Given the description of an element on the screen output the (x, y) to click on. 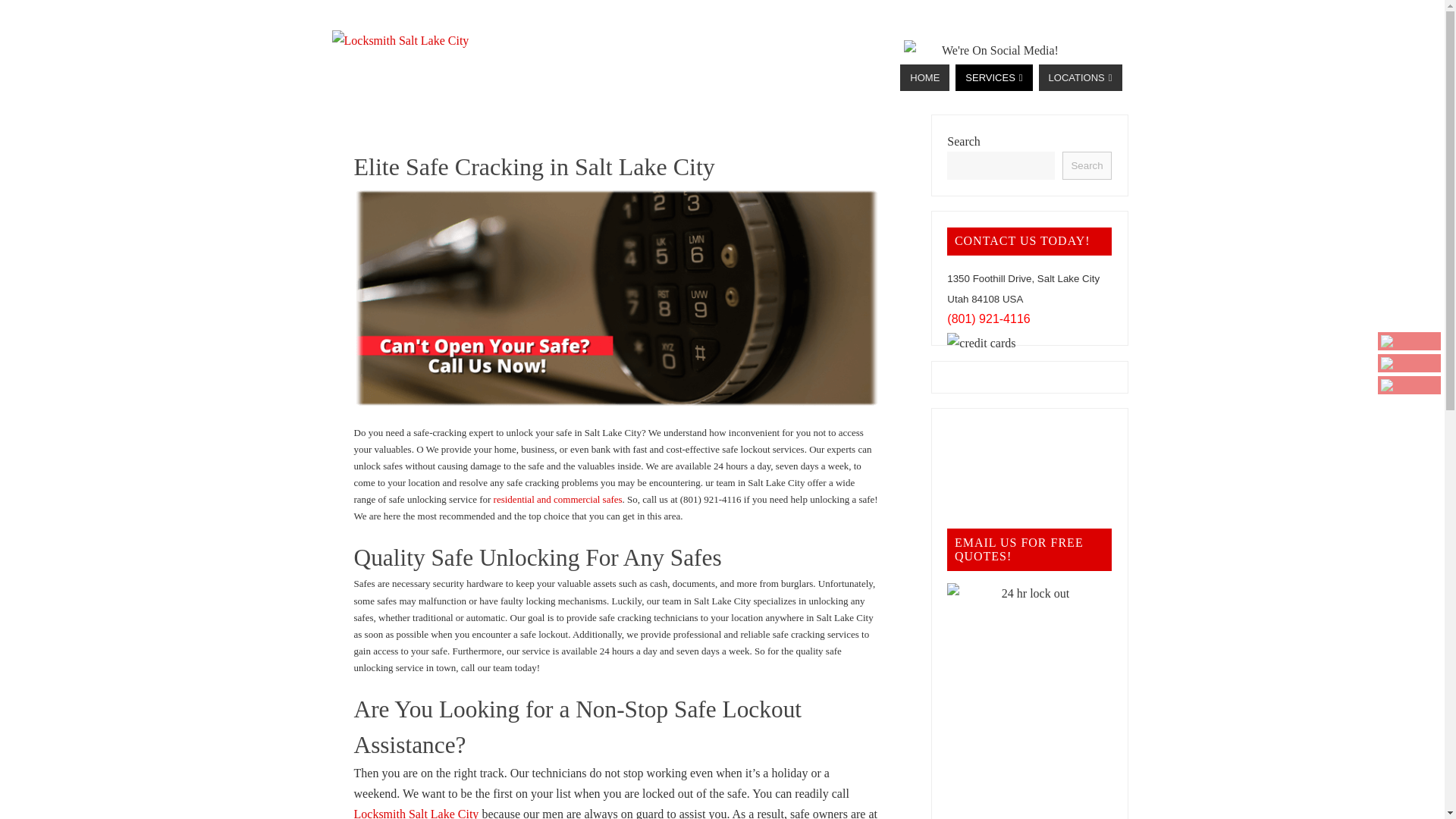
SERVICES (993, 77)
YouTube (1409, 341)
Search (1086, 165)
HOME (924, 77)
LinkedIn (1409, 362)
Locksmith Salt Lake City (416, 813)
RSS (1409, 384)
Locksmith Salt Lake City (399, 40)
LOCATIONS (1080, 77)
residential and commercial safes (558, 499)
